Given the description of an element on the screen output the (x, y) to click on. 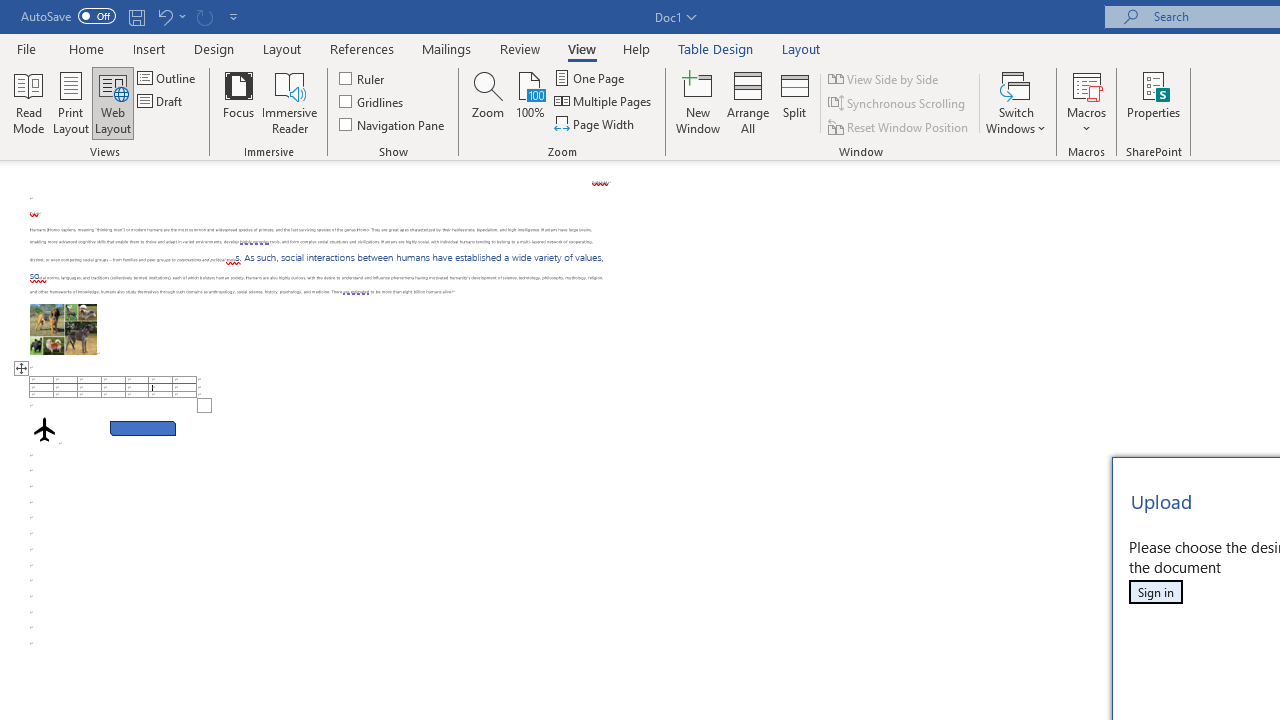
Macros (1086, 102)
Read Mode (28, 102)
Reset Window Position (900, 126)
Navigation Pane (392, 124)
Home (86, 48)
Multiple Pages (603, 101)
Properties (1153, 102)
AutoSave (68, 16)
Arrange All (747, 102)
Immersive Reader (289, 102)
System (10, 11)
View Side by Side (884, 78)
Morphological variation in six dogs (63, 328)
Split (795, 102)
